Given the description of an element on the screen output the (x, y) to click on. 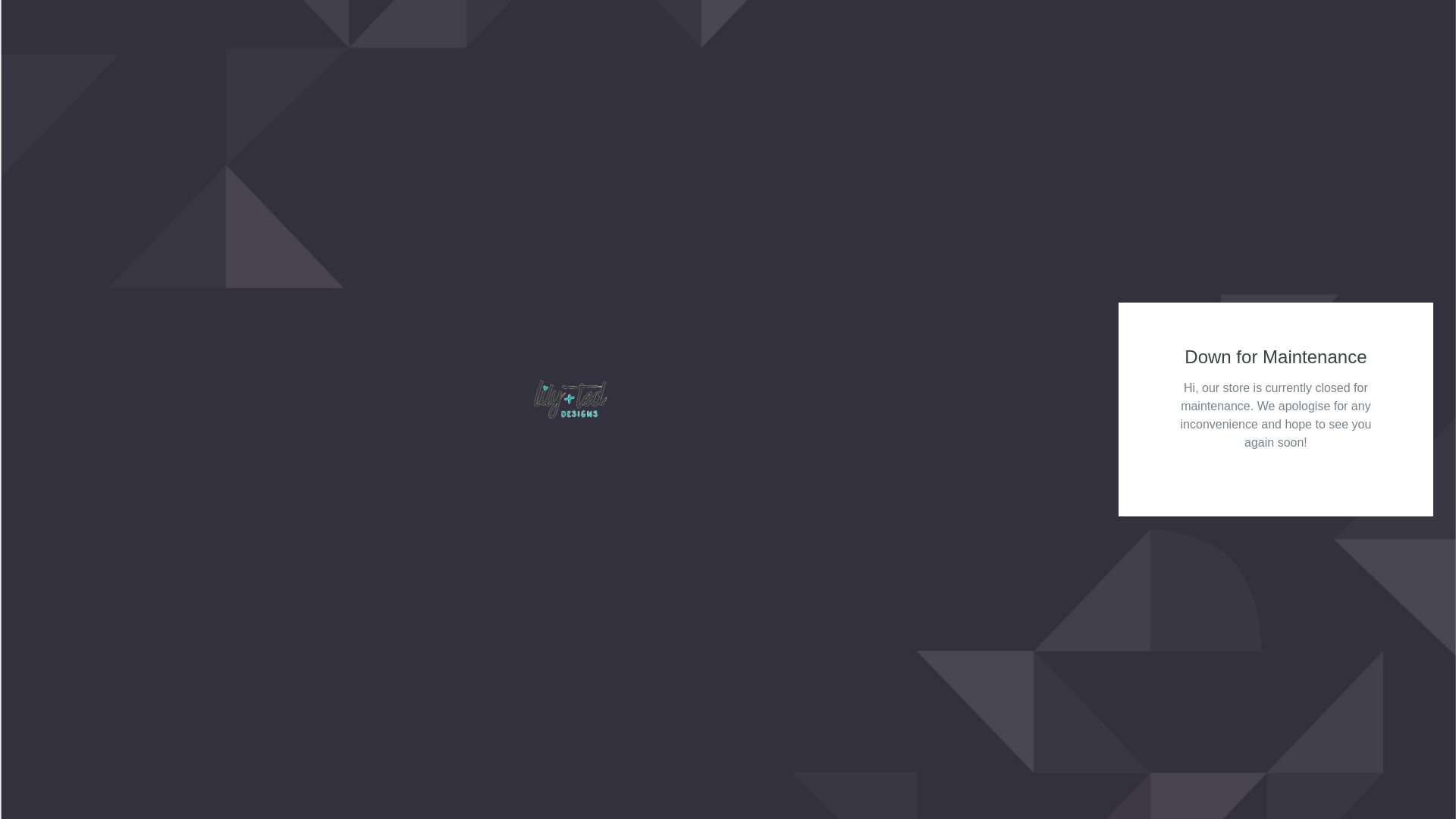
lily+ted designs Element type: hover (570, 398)
